Given the description of an element on the screen output the (x, y) to click on. 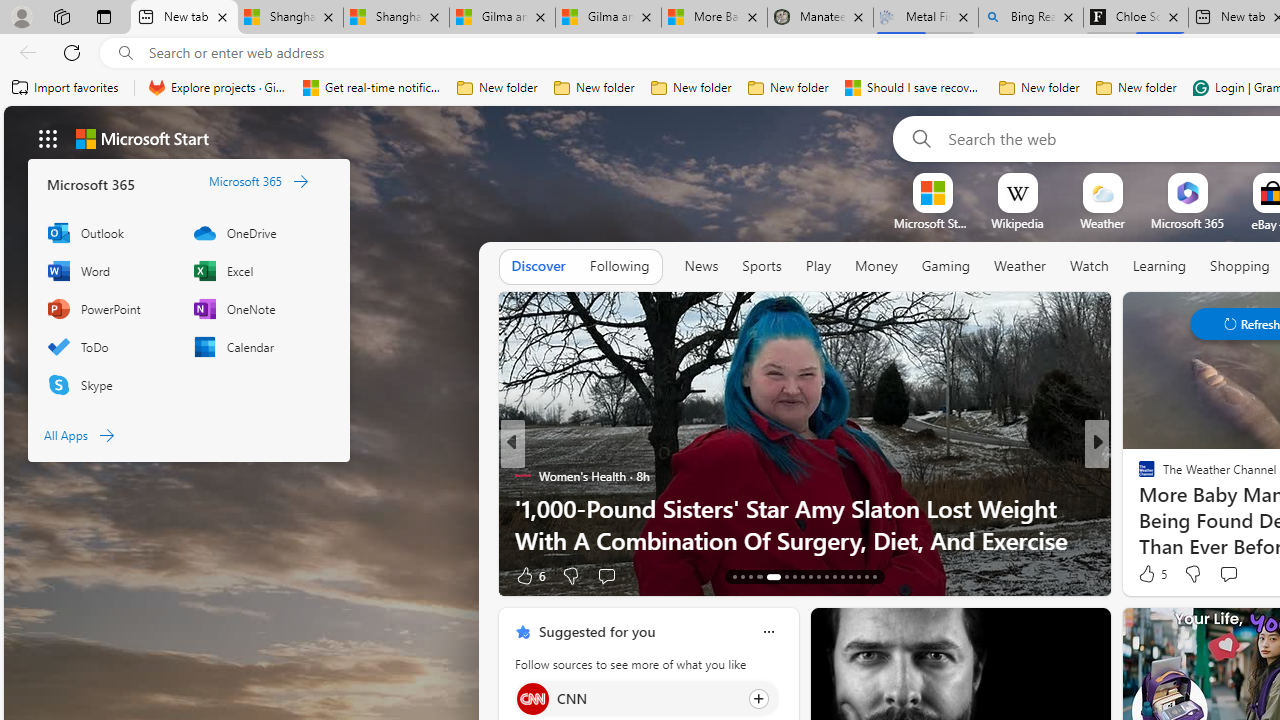
75 Like (1149, 574)
Hide this story (1050, 632)
AutomationID: tab-16 (757, 576)
CNN (532, 697)
269 Like (1151, 574)
Search icon (125, 53)
How to Survive (1138, 507)
SlashGear (1138, 475)
9 Like (1145, 574)
Microsoft start (142, 138)
AutomationID: tab-39 (850, 576)
Wikipedia (1017, 223)
Indy 100 (1138, 475)
